Given the description of an element on the screen output the (x, y) to click on. 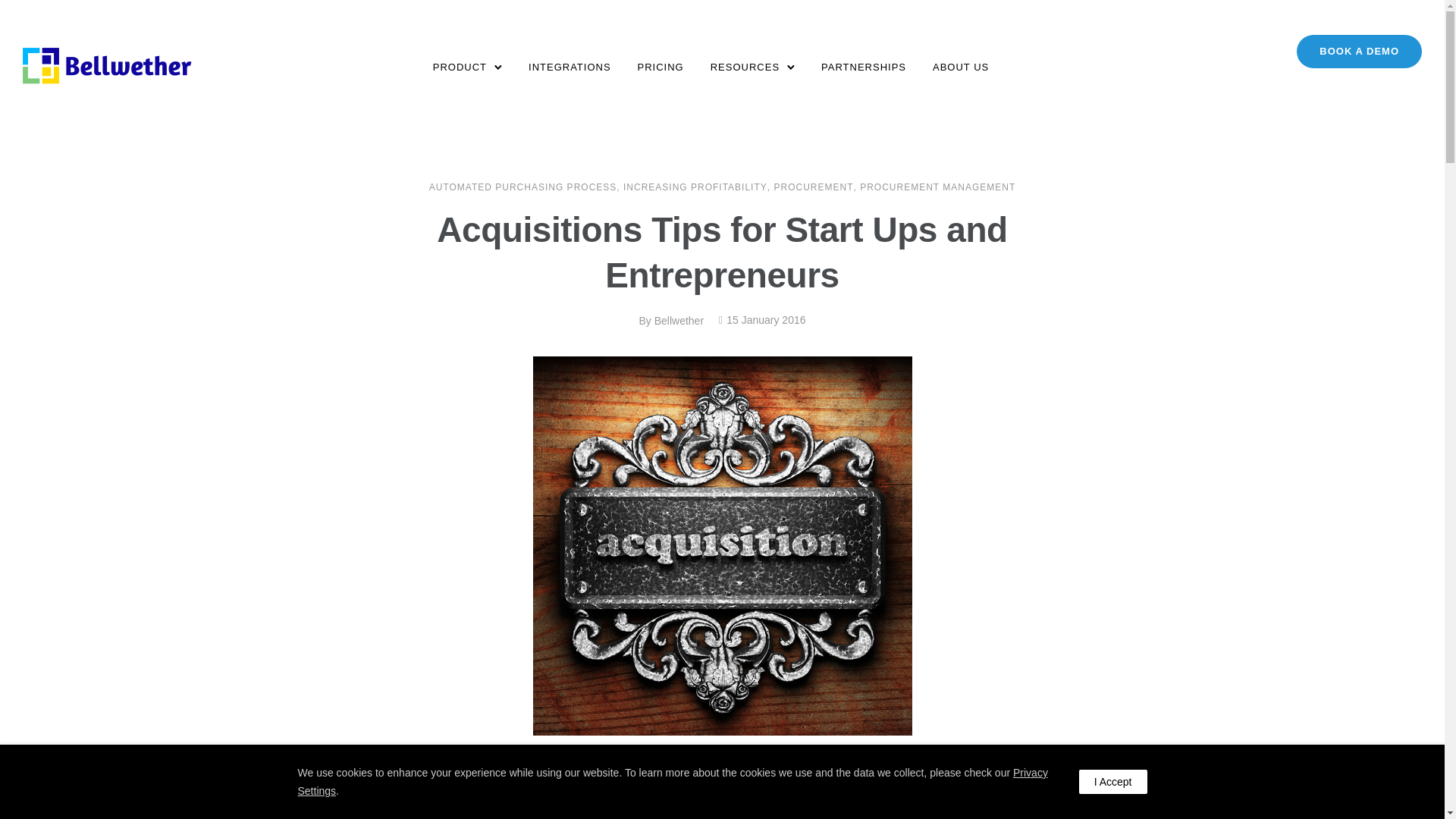
Integrations (569, 67)
RESOURCES (745, 67)
BOOK A DEMO (1359, 51)
AUTOMATED PURCHASING PROCESS (523, 186)
Resources (745, 67)
PRODUCT (460, 67)
ABOUT US (959, 67)
PARTNERSHIPS (863, 67)
PRICING (660, 67)
INTEGRATIONS (569, 67)
